Given the description of an element on the screen output the (x, y) to click on. 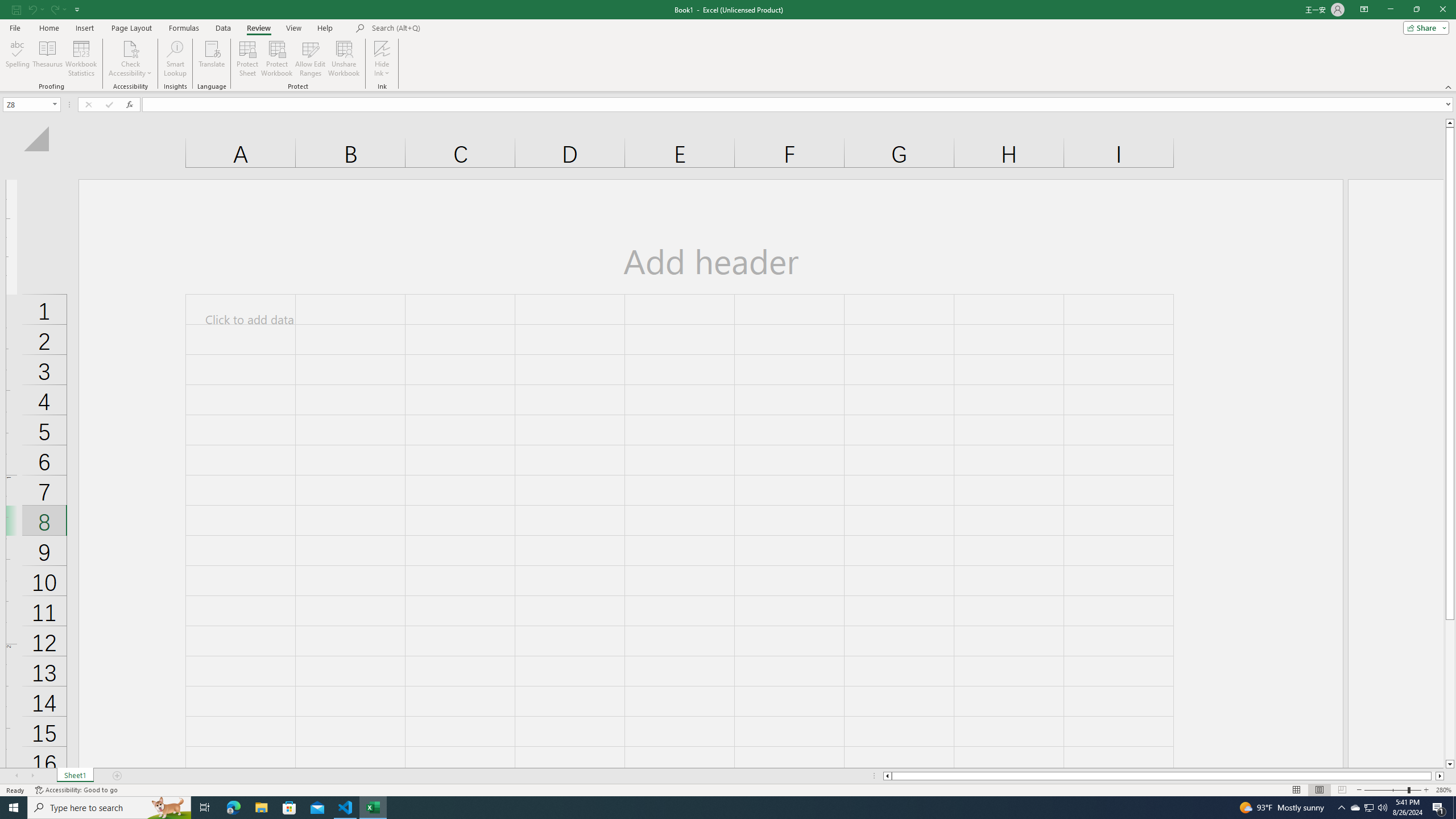
System (6, 6)
Page Layout (131, 28)
Review (258, 28)
Add Sheet (117, 775)
Customize Quick Access Toolbar (77, 9)
Help (325, 28)
Page down (1449, 689)
Page right (1433, 775)
Undo (31, 9)
Check Accessibility (129, 48)
Share (1423, 27)
Accessibility Checker Accessibility: Good to go (76, 790)
Ribbon Display Options (1364, 9)
